Given the description of an element on the screen output the (x, y) to click on. 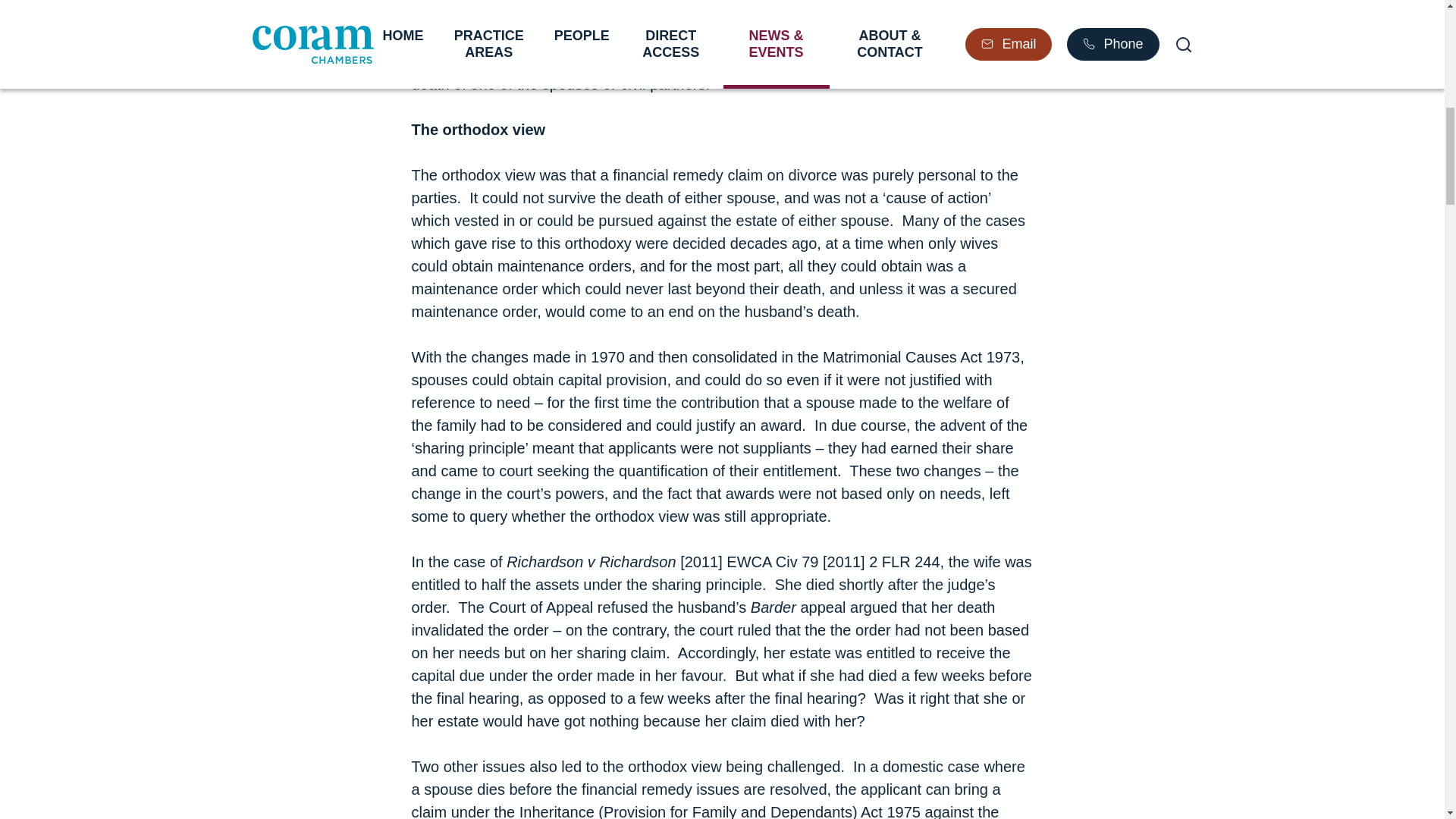
Download PDF (970, 34)
Reset Shortlist (1123, 34)
